Given the description of an element on the screen output the (x, y) to click on. 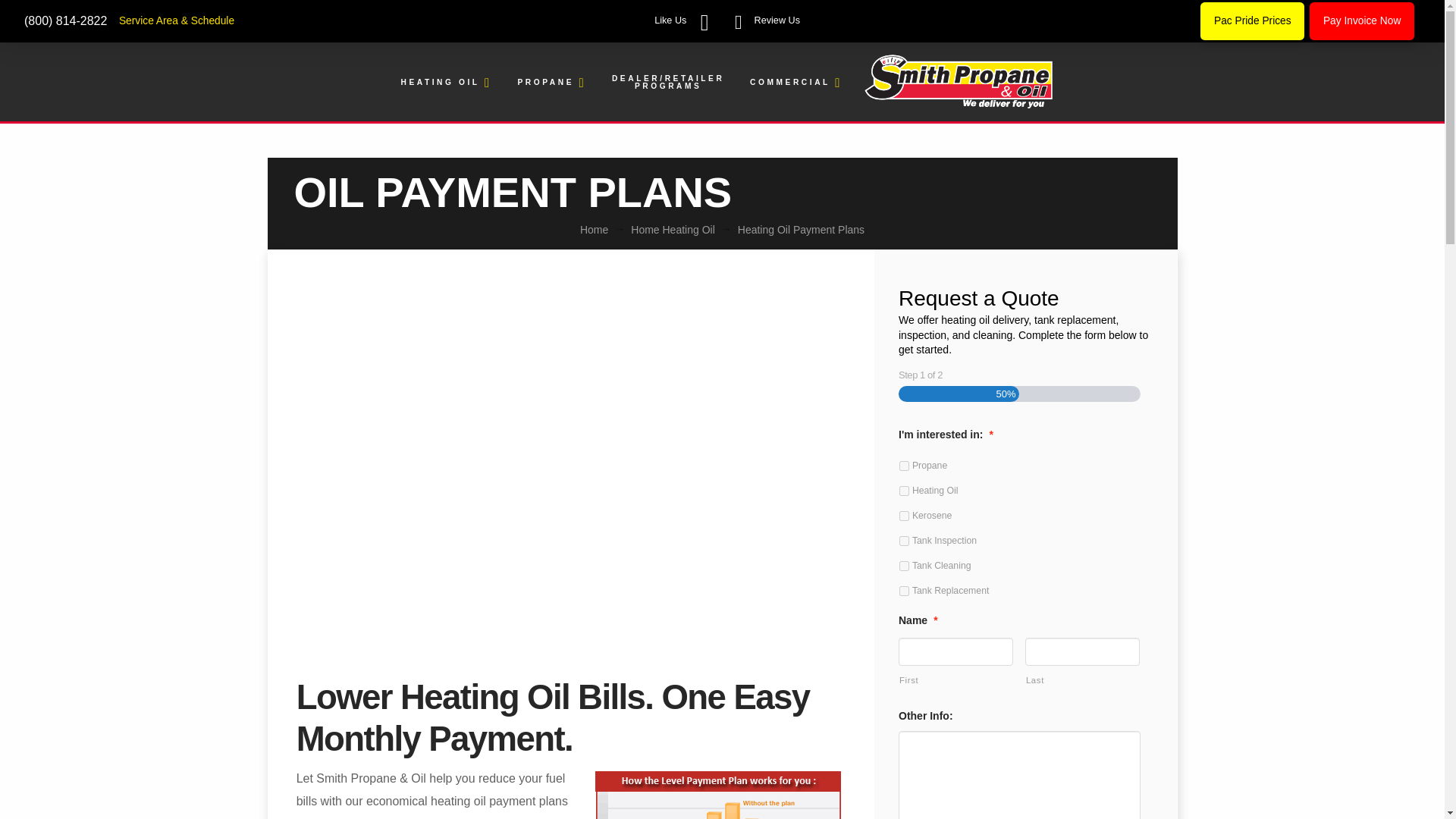
Propane (903, 465)
Pac Pride Prices (1251, 20)
Tank Replacement (903, 591)
Tank Inspection (903, 541)
Heating Oil Payment Plans (801, 229)
Home (593, 229)
You Are Here (801, 229)
Tank Cleaning (903, 565)
HEATING OIL (445, 82)
Heating Oil (903, 491)
